Given the description of an element on the screen output the (x, y) to click on. 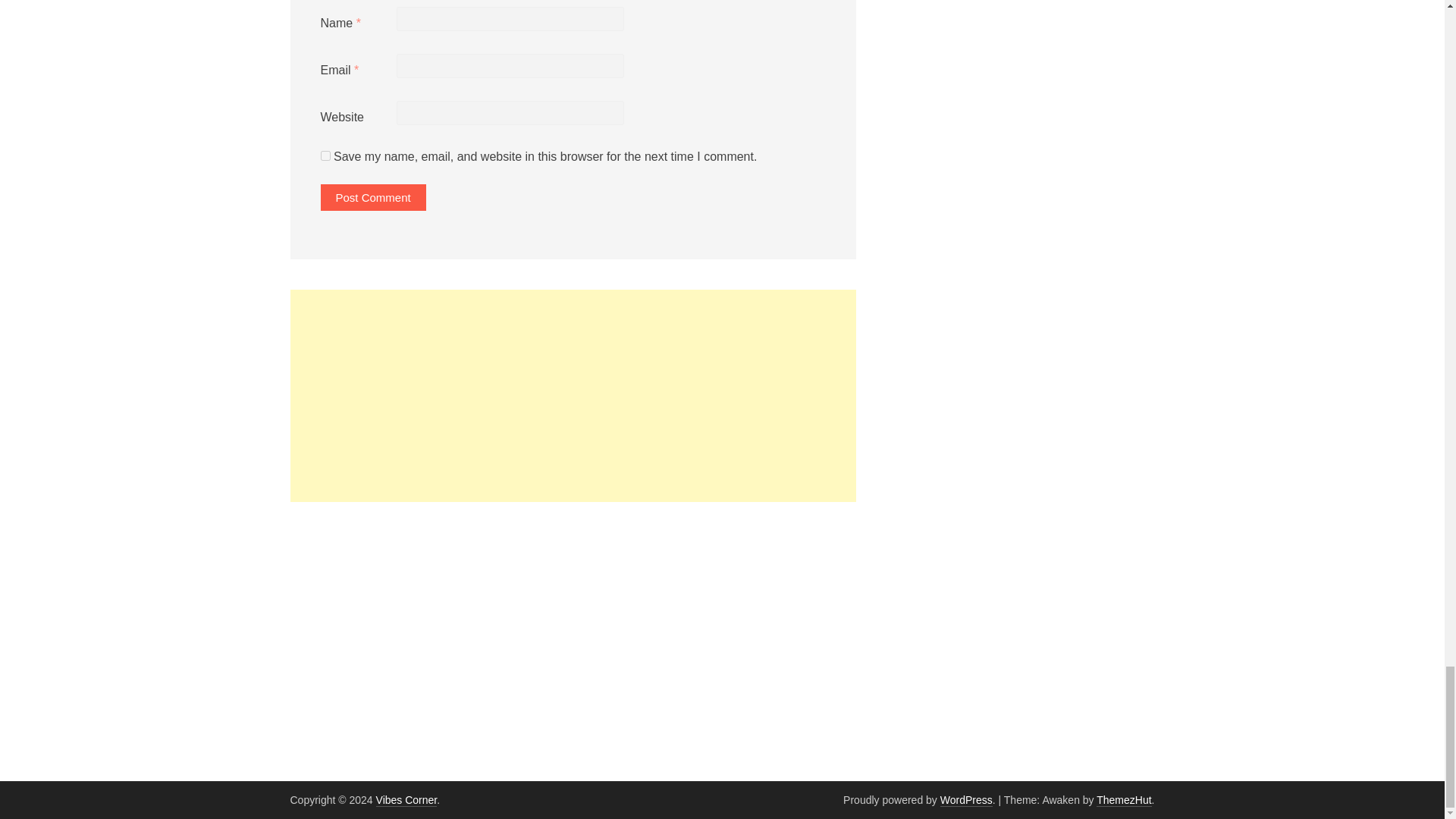
WordPress (966, 799)
Vibes Corner (406, 799)
Vibes Corner (406, 799)
Post Comment (372, 197)
WordPress (966, 799)
ThemezHut (1123, 799)
Post Comment (372, 197)
yes (325, 155)
